Given the description of an element on the screen output the (x, y) to click on. 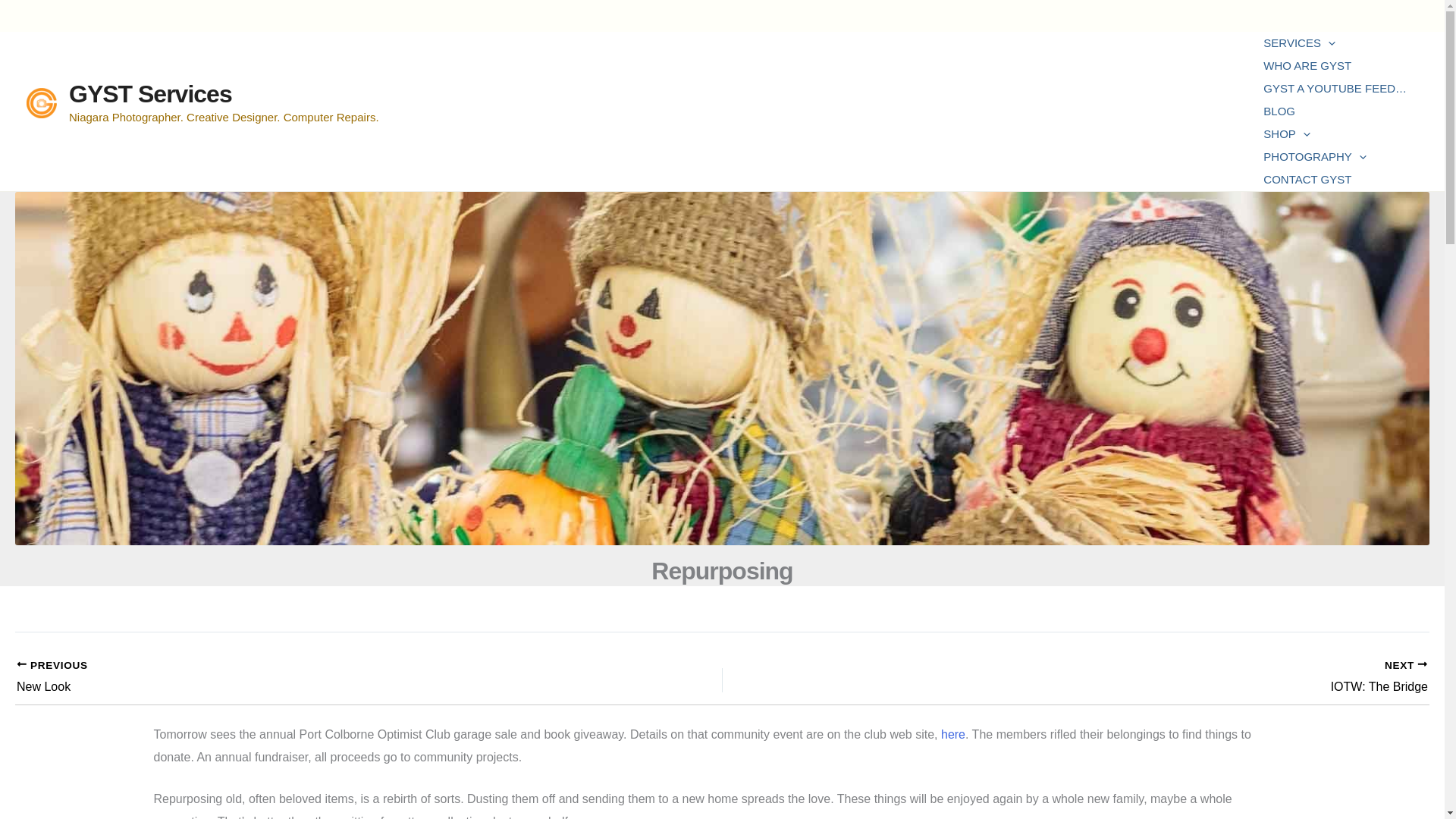
GYST Services (149, 93)
CONTACT GYST (1335, 179)
WHO ARE GYST (1335, 65)
New Look (299, 677)
PHOTOGRAPHY (1335, 156)
BLOG (1335, 110)
IOTW: The Bridge (1144, 677)
SHOP (1335, 133)
SERVICES (1335, 42)
